Given the description of an element on the screen output the (x, y) to click on. 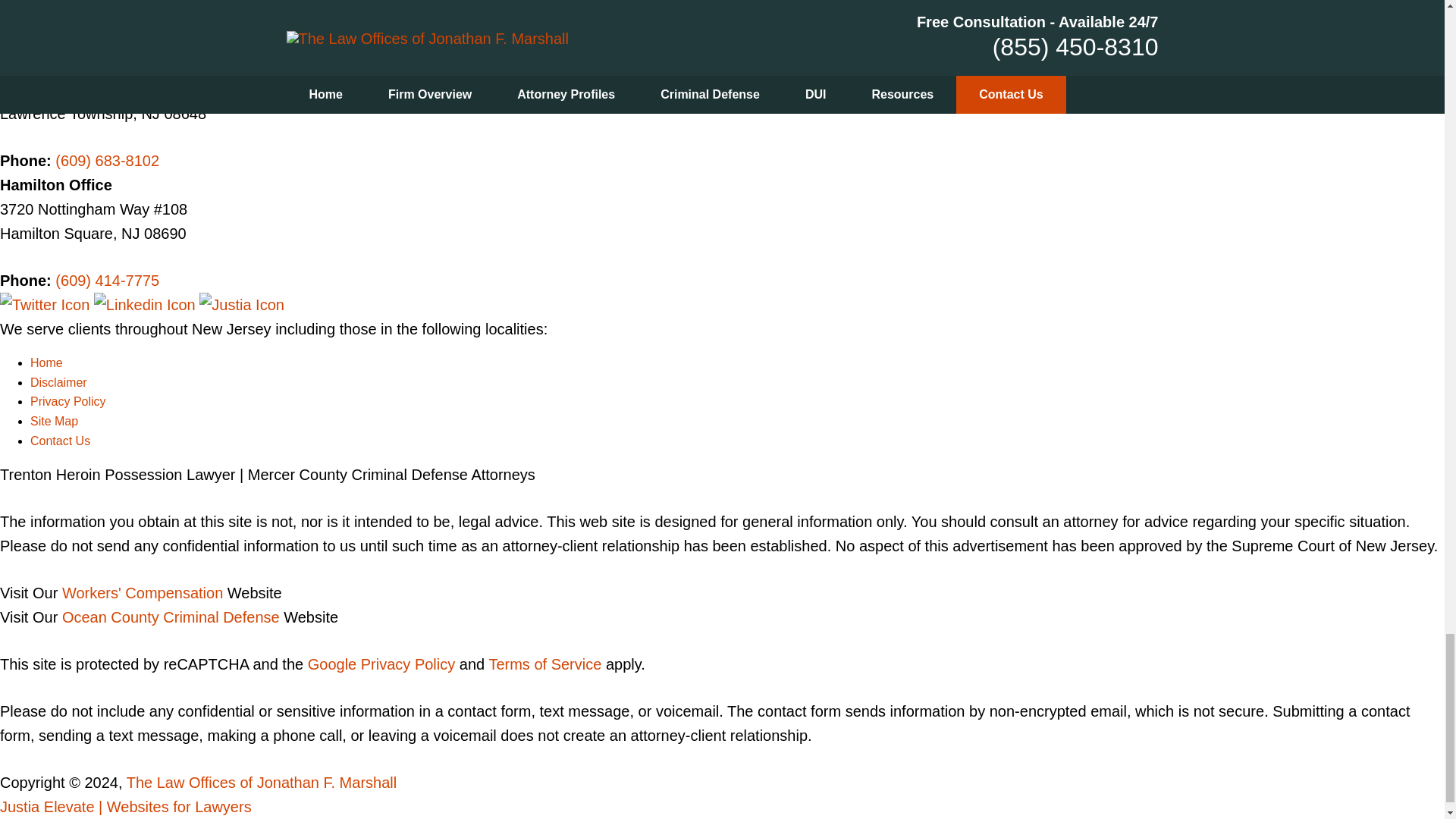
Twitter (47, 304)
Justia (241, 304)
Linkedin (146, 304)
